Given the description of an element on the screen output the (x, y) to click on. 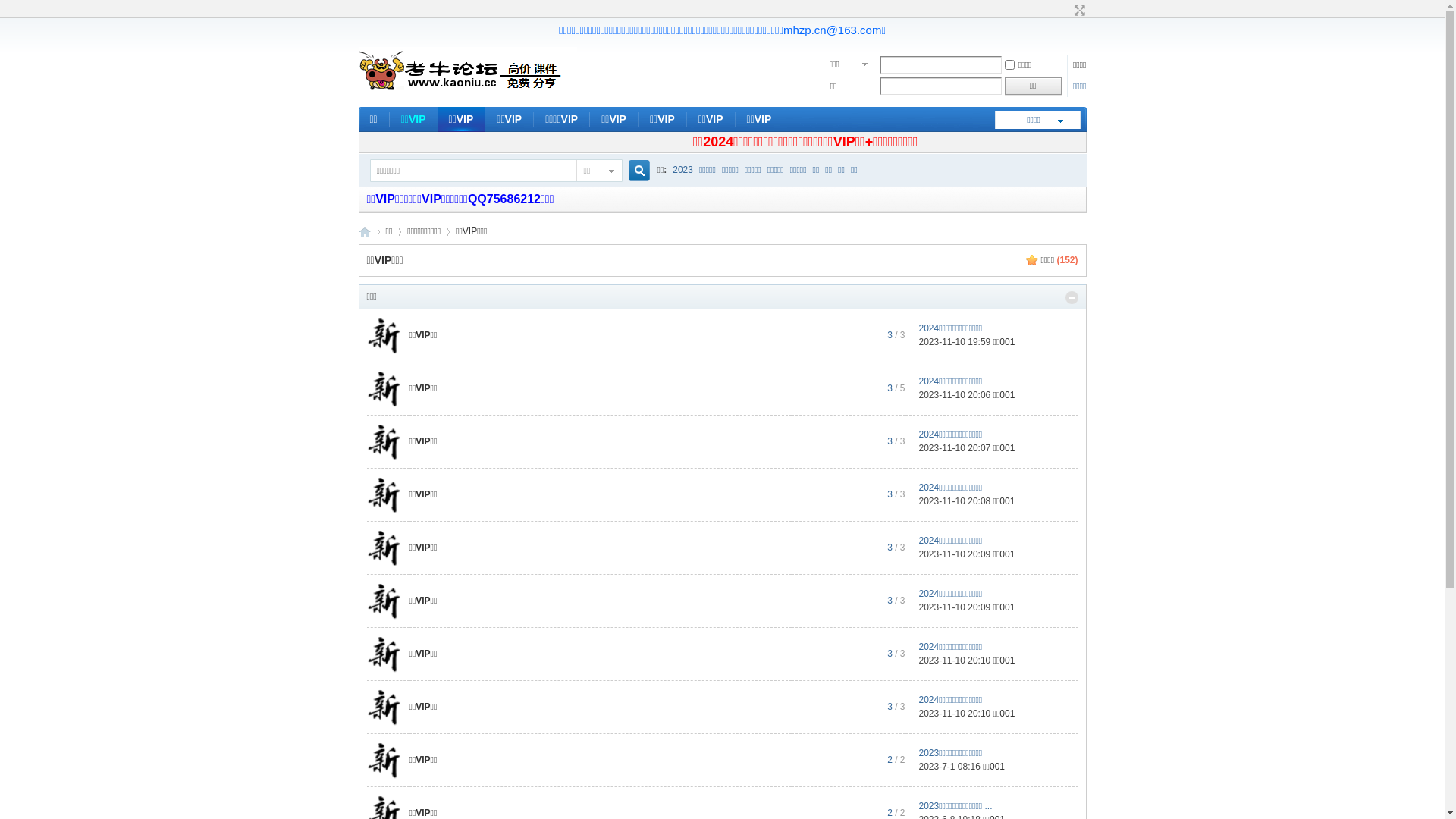
2023 Element type: text (682, 169)
true Element type: text (632, 170)
